Given the description of an element on the screen output the (x, y) to click on. 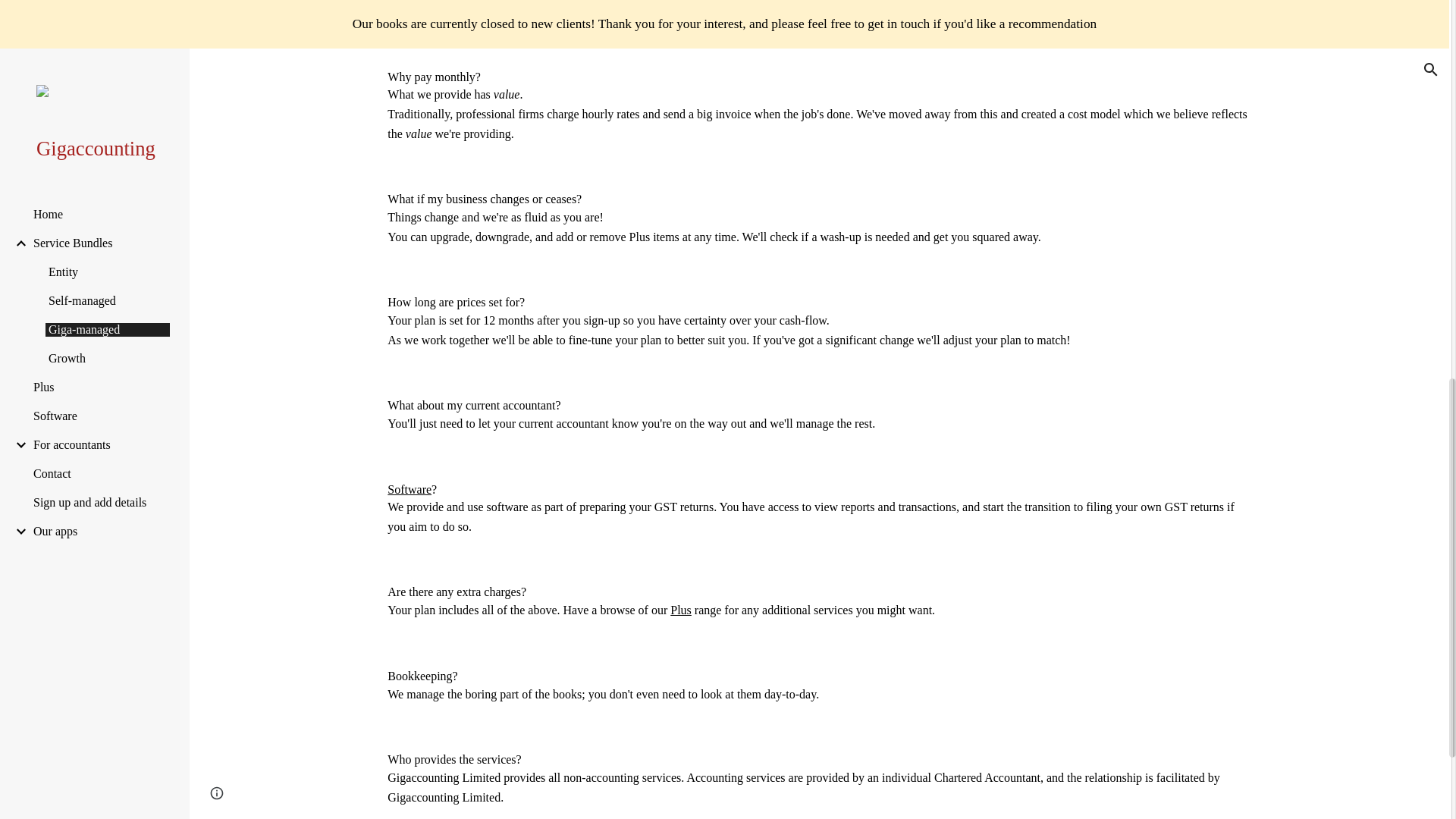
Software (408, 488)
Growth (806, 10)
Plus (680, 609)
Plus (895, 10)
